Given the description of an element on the screen output the (x, y) to click on. 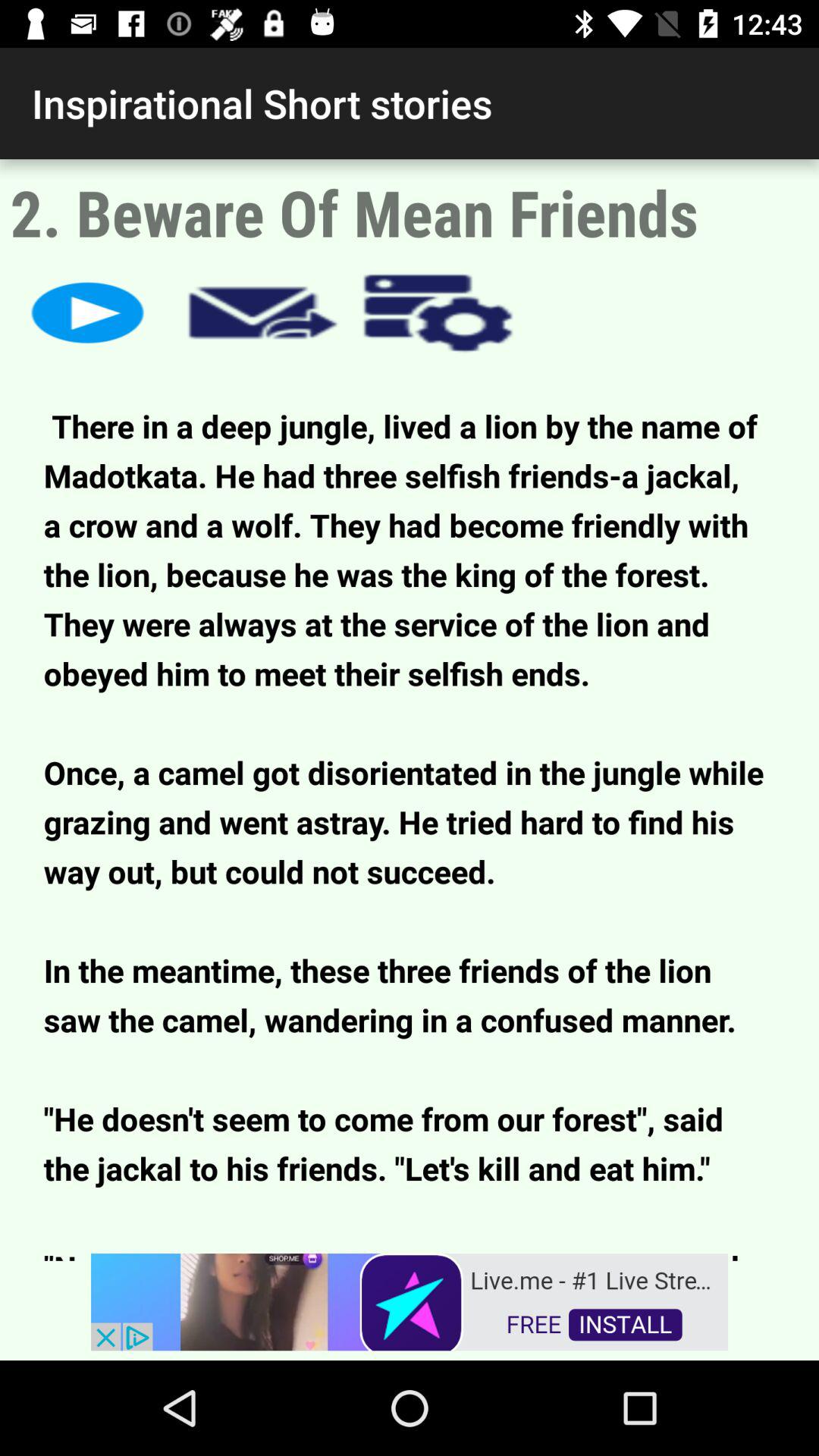
options menu (437, 312)
